Given the description of an element on the screen output the (x, y) to click on. 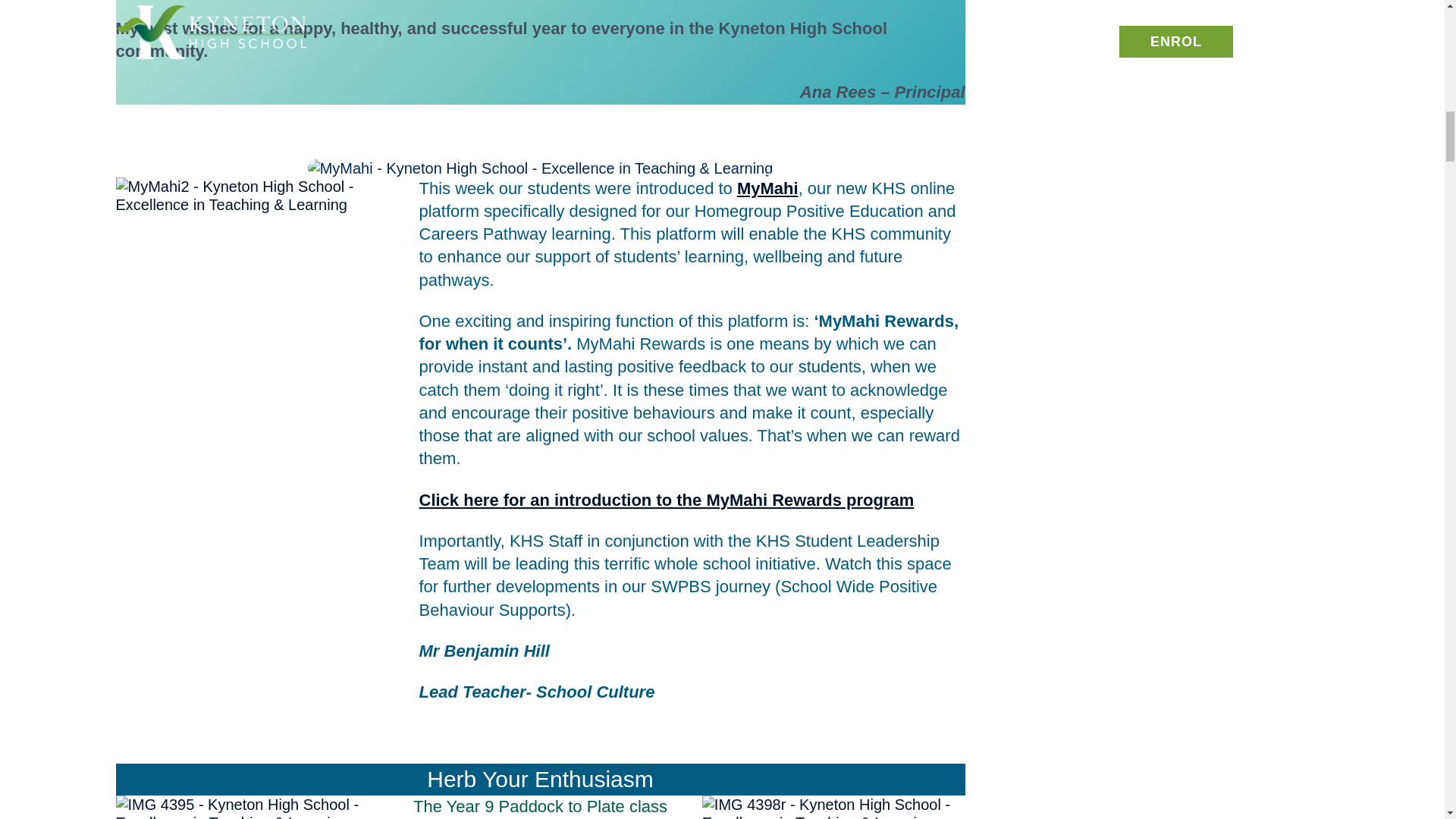
MyMahi (766, 188)
Click here for an introduction to the MyMahi Rewards program (666, 499)
